Given the description of an element on the screen output the (x, y) to click on. 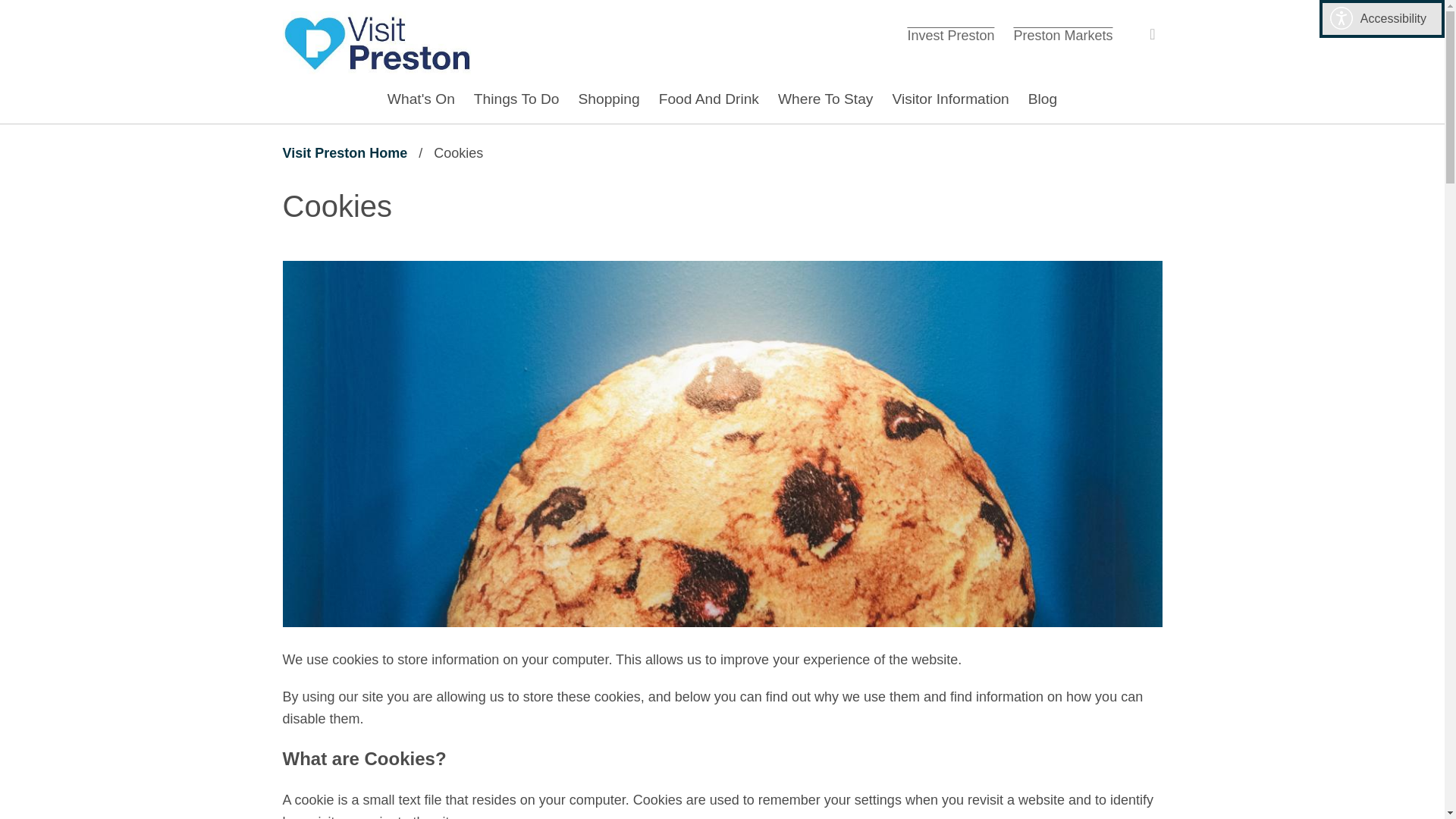
Things To Do (376, 42)
Skip to main content (516, 98)
Blog (11, 11)
Visit Preston Home (1042, 98)
Visitor Information (344, 153)
What'S On (949, 98)
Shopping (421, 98)
Search this website (608, 98)
Food And Drink (1147, 34)
Where To Stay (708, 98)
Preston Markets (825, 98)
Banner: Cookie against a blue background. (1062, 34)
